Given the description of an element on the screen output the (x, y) to click on. 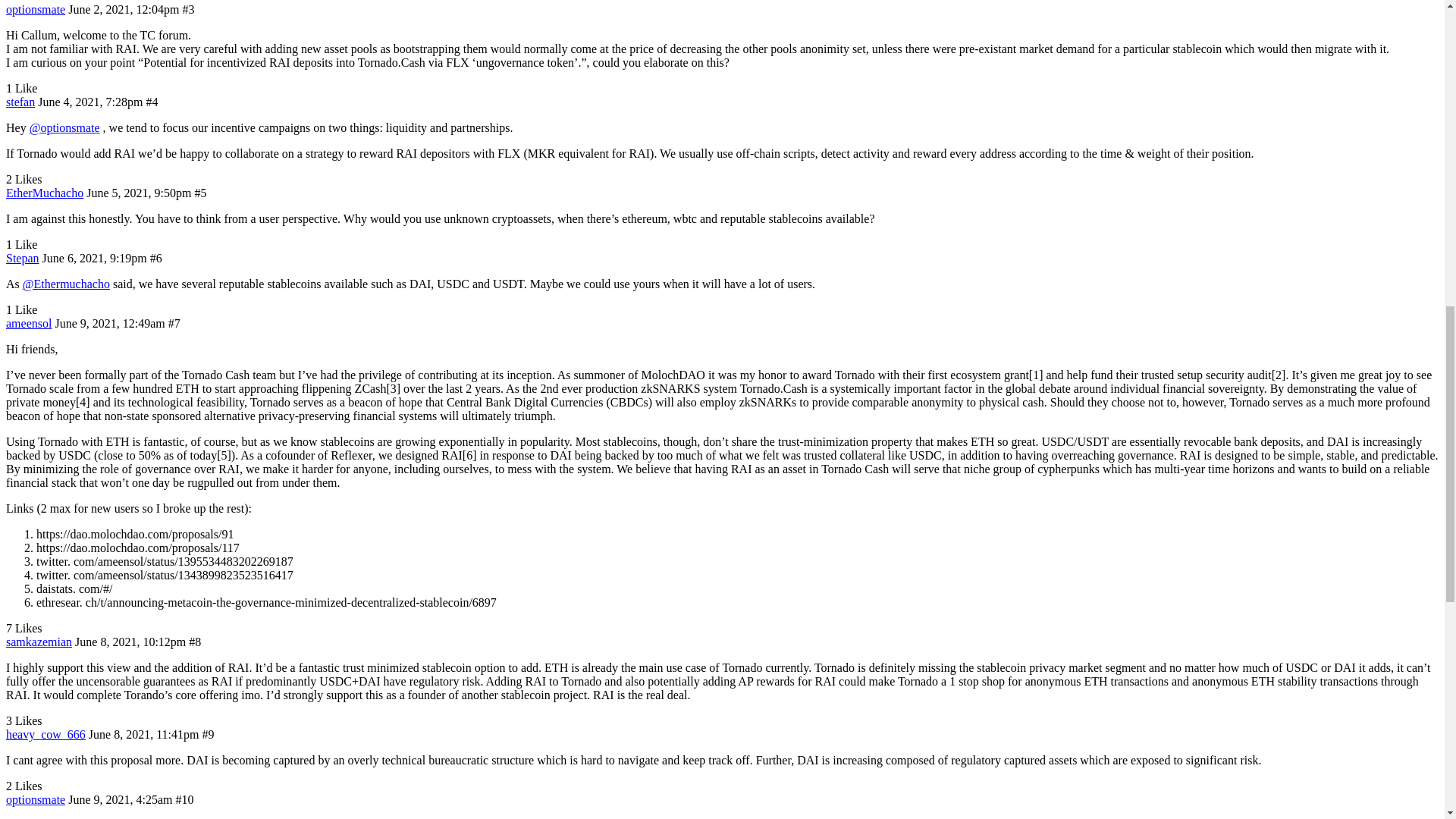
ameensol (27, 323)
optionsmate (35, 799)
optionsmate (35, 9)
samkazemian (38, 641)
stefan (19, 101)
EtherMuchacho (43, 192)
Stepan (22, 257)
